Given the description of an element on the screen output the (x, y) to click on. 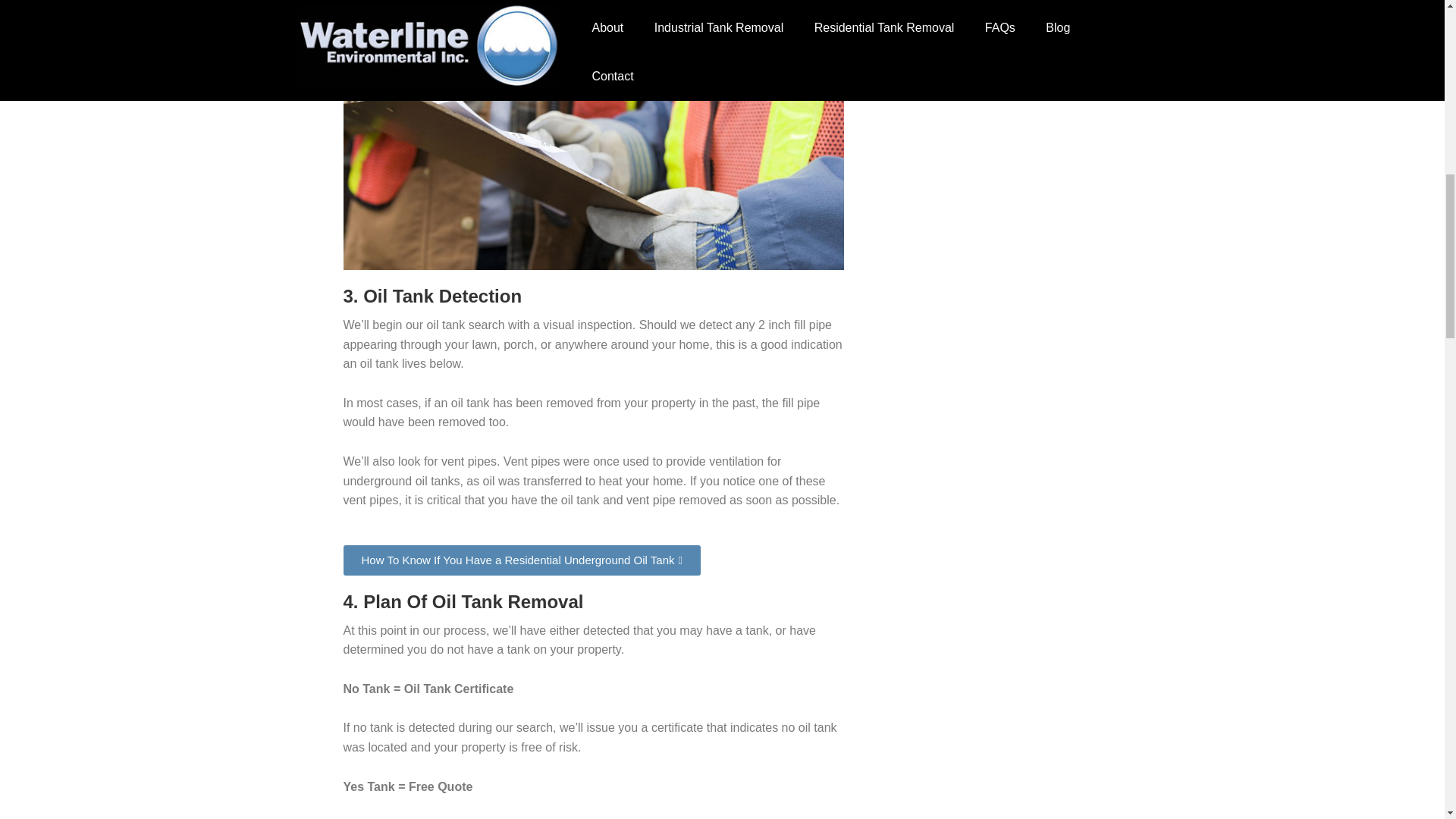
How To Know If You Have a Residential Underground Oil Tank (521, 560)
